Given the description of an element on the screen output the (x, y) to click on. 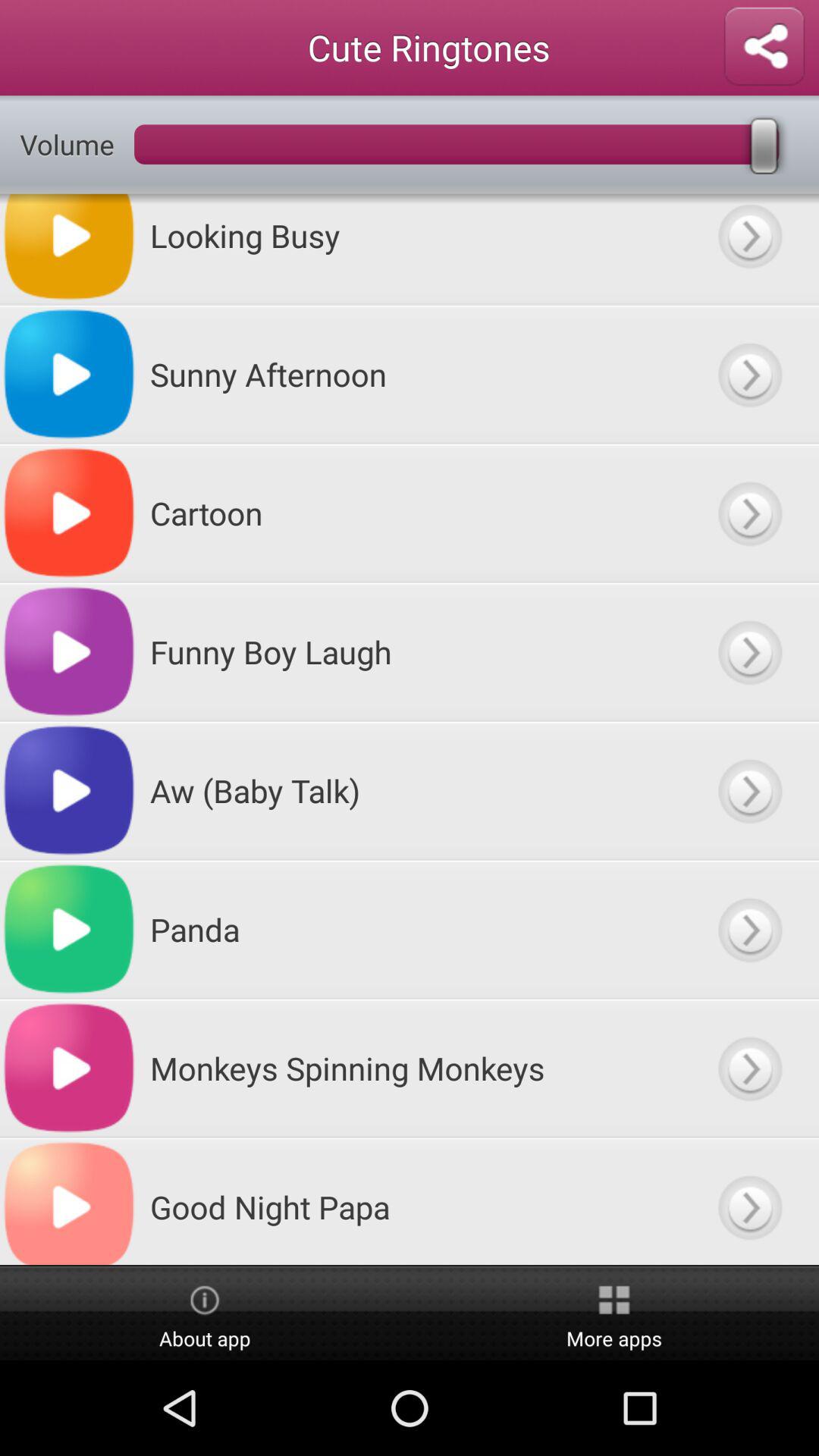
back the option (749, 374)
